Given the description of an element on the screen output the (x, y) to click on. 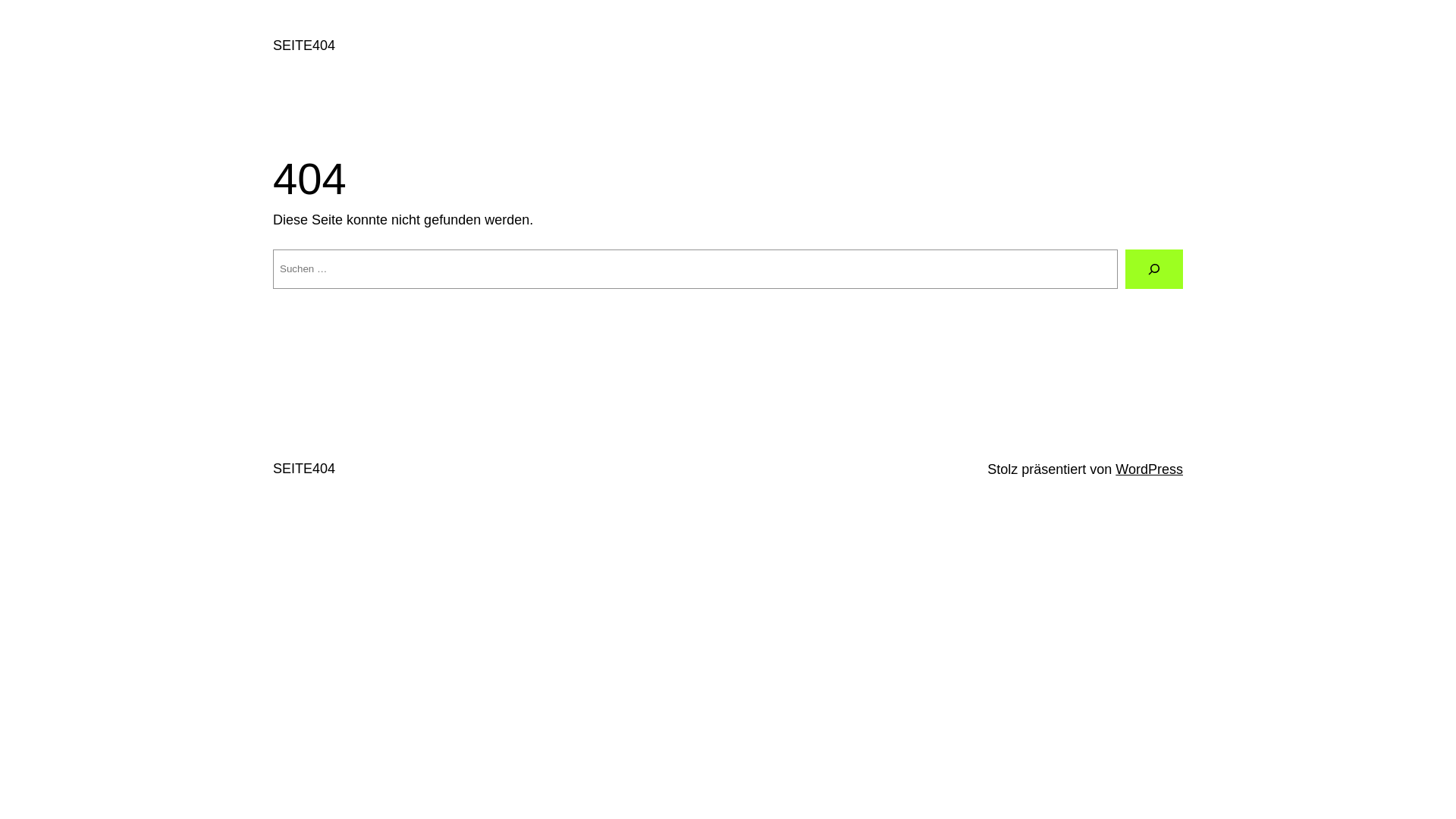
SEITE404 Element type: text (304, 45)
WordPress Element type: text (1149, 468)
SEITE404 Element type: text (304, 468)
